Given the description of an element on the screen output the (x, y) to click on. 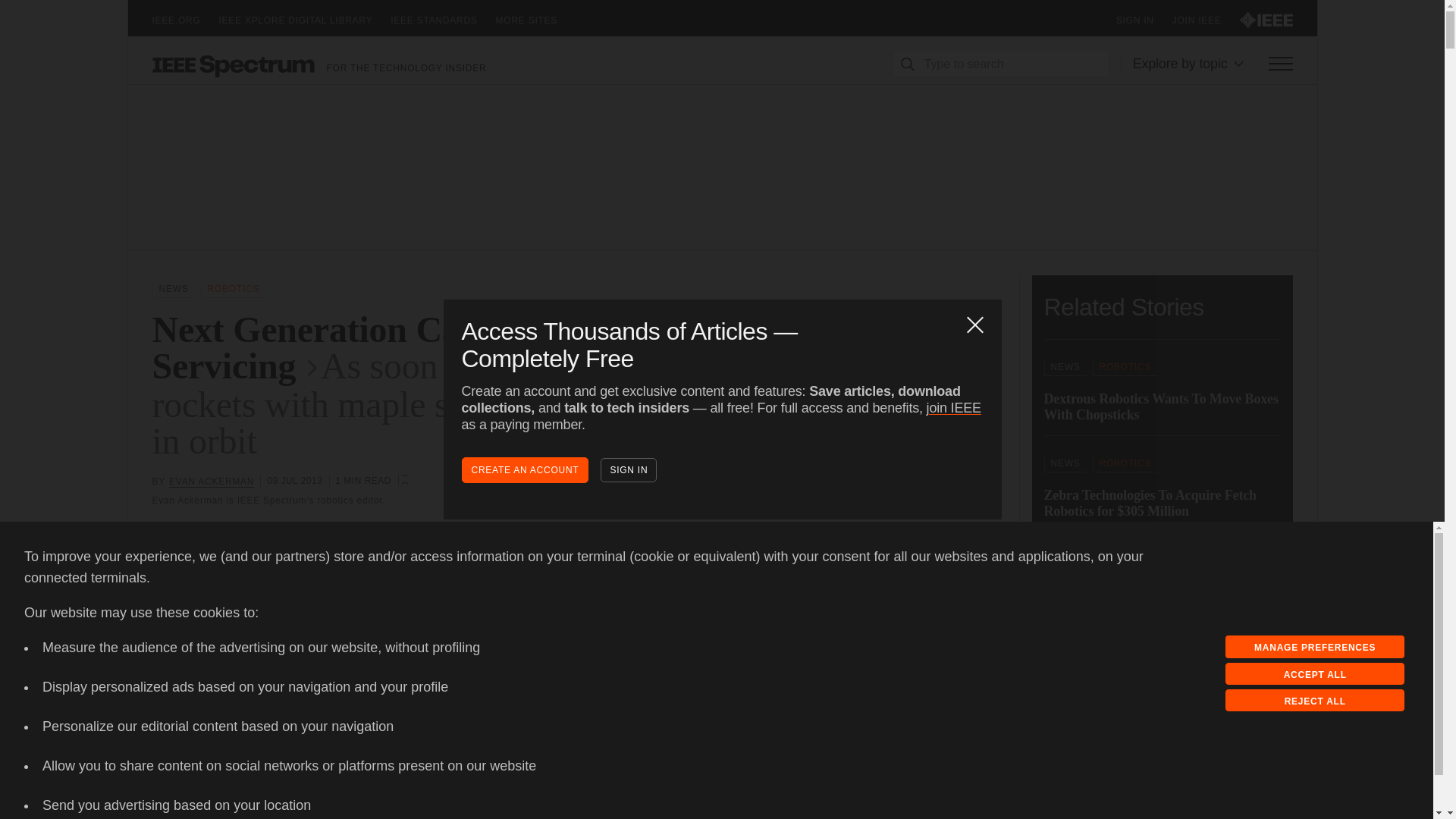
Search (907, 63)
IEEE.ORG (184, 20)
MORE SITES (536, 20)
SIGN IN (1144, 20)
Spectrum Logo (232, 64)
REJECT ALL (1315, 700)
IEEE STANDARDS (442, 20)
JOIN IEEE (1206, 20)
ACCEPT ALL (1315, 673)
MANAGE PREFERENCES (1315, 646)
IEEE XPLORE DIGITAL LIBRARY (305, 20)
